Given the description of an element on the screen output the (x, y) to click on. 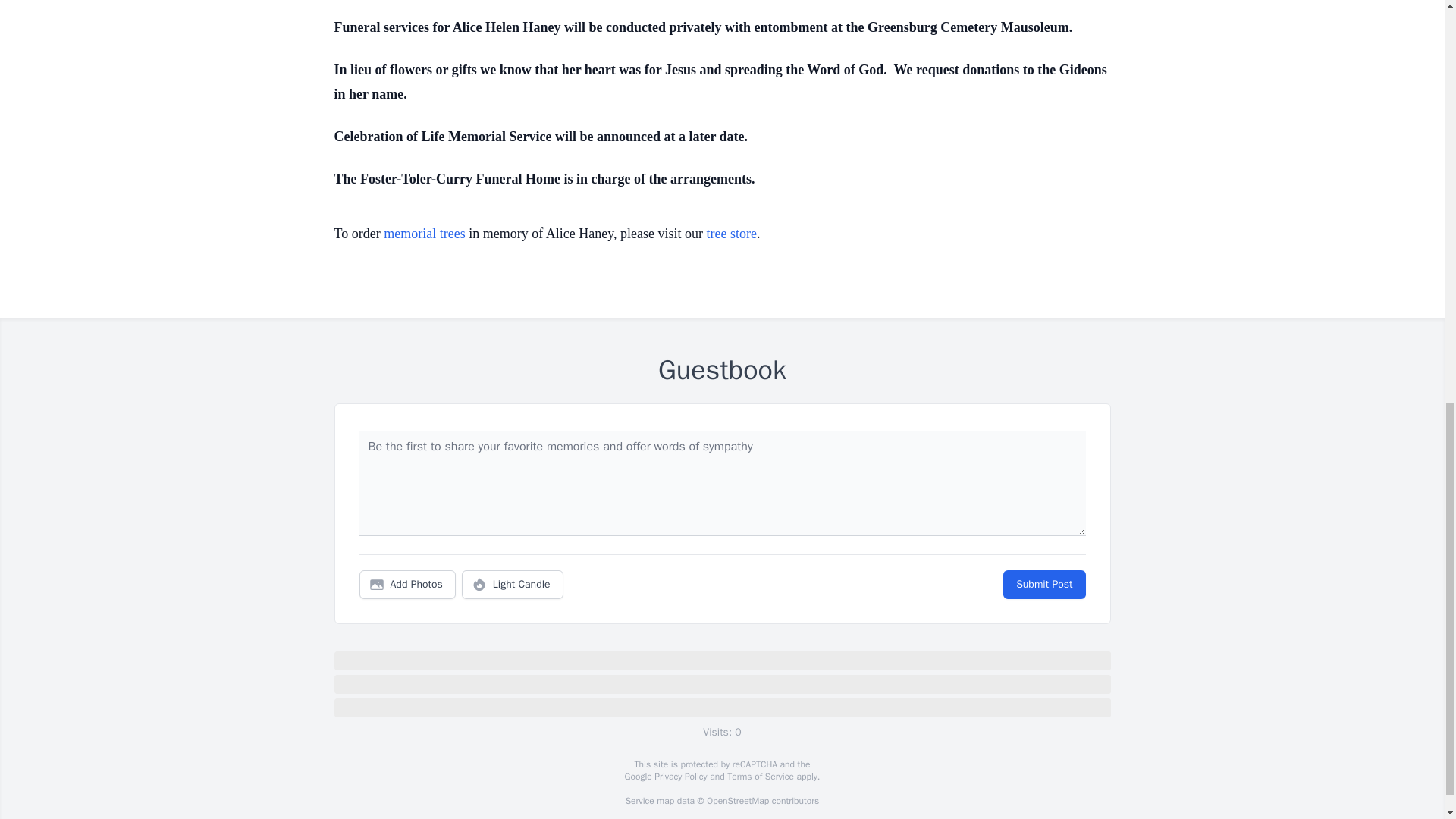
tree store (730, 233)
OpenStreetMap (737, 800)
Privacy Policy (679, 776)
Submit Post (1043, 584)
Light Candle (512, 584)
memorial trees (424, 233)
Add Photos (407, 584)
Terms of Service (759, 776)
